Given the description of an element on the screen output the (x, y) to click on. 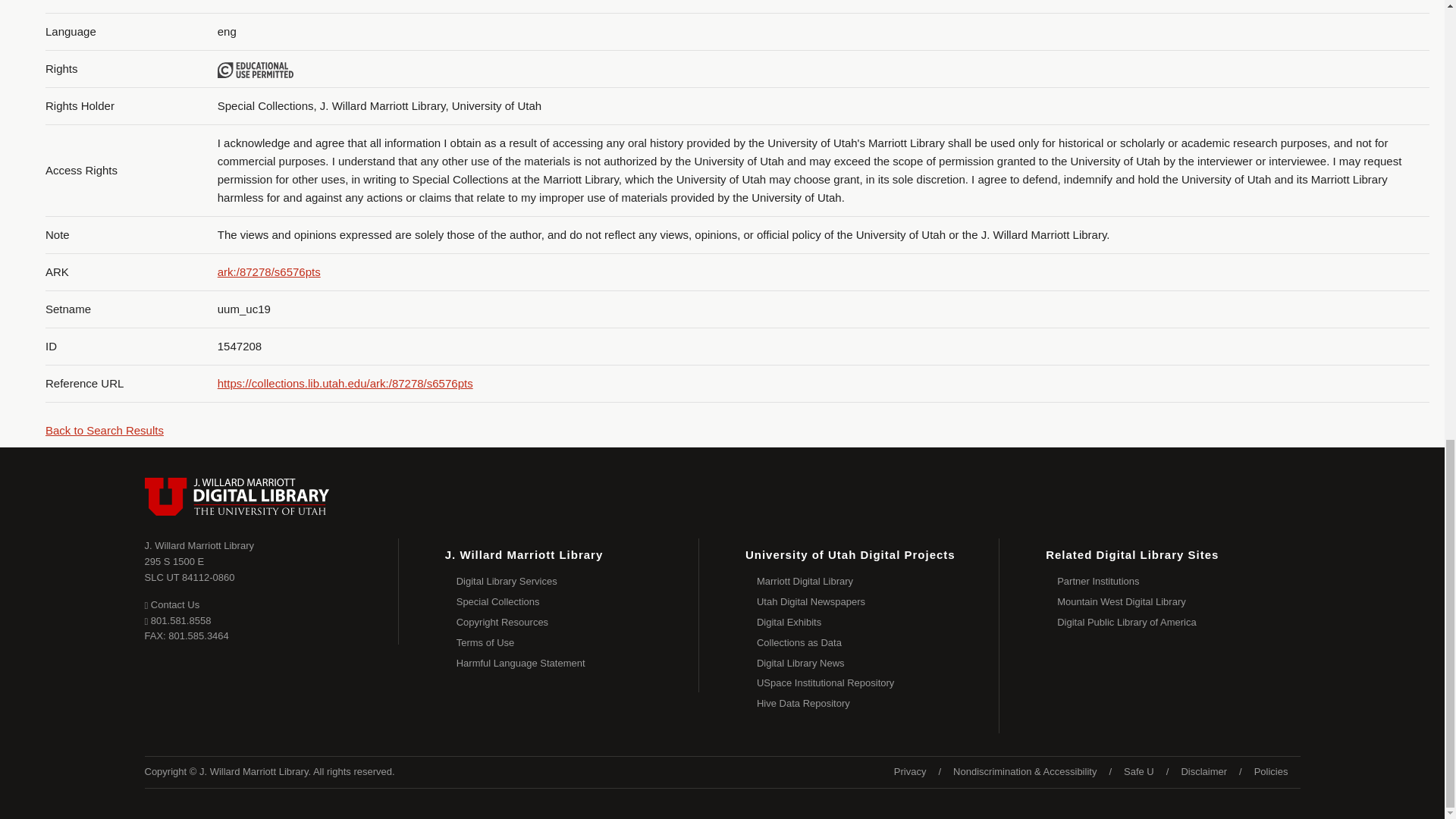
Partner Institutions (1178, 581)
Digital Library Services (577, 581)
Collections as Data (877, 643)
USpace Institutional Repository (877, 683)
Privacy (910, 771)
Digital Public Library of America (1178, 622)
Mountain West Digital Library (1178, 602)
Utah Digital Newspapers (877, 602)
Hive Data Repository (877, 703)
Digital Exhibits (877, 622)
Contact Us (171, 604)
Marriott Digital Library (877, 581)
Copyright Resources (577, 622)
Back to Search Results (104, 430)
Special Collections (577, 602)
